Given the description of an element on the screen output the (x, y) to click on. 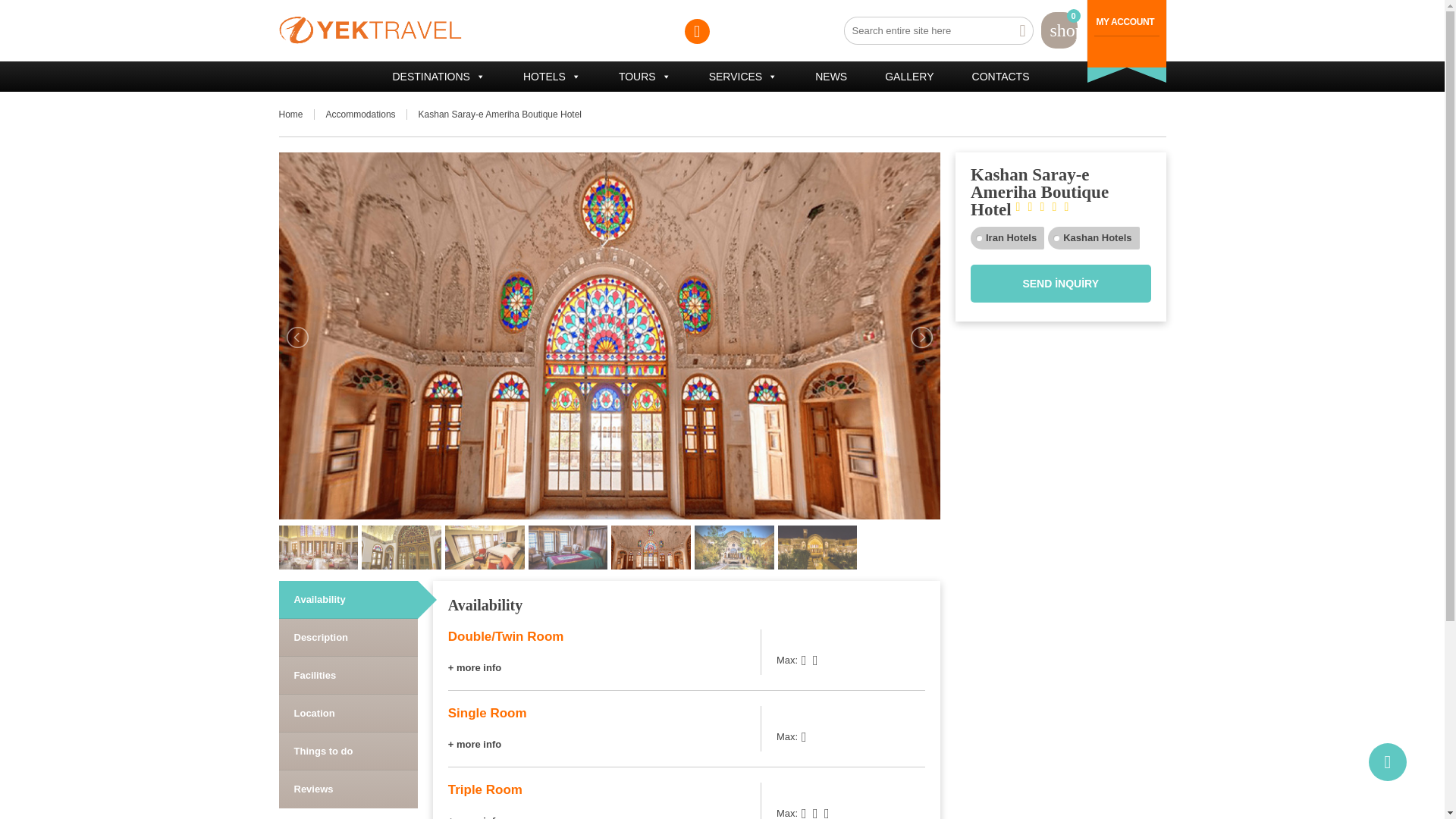
Things to do (348, 750)
HOTELS (551, 75)
Reviews (348, 789)
DESTINATIONS (438, 75)
Accommodations (366, 113)
Facilities (348, 674)
My Account (1125, 21)
MY ACCOUNT (1125, 21)
Location (348, 713)
Availability (348, 599)
Home (296, 113)
Description (348, 637)
